Given the description of an element on the screen output the (x, y) to click on. 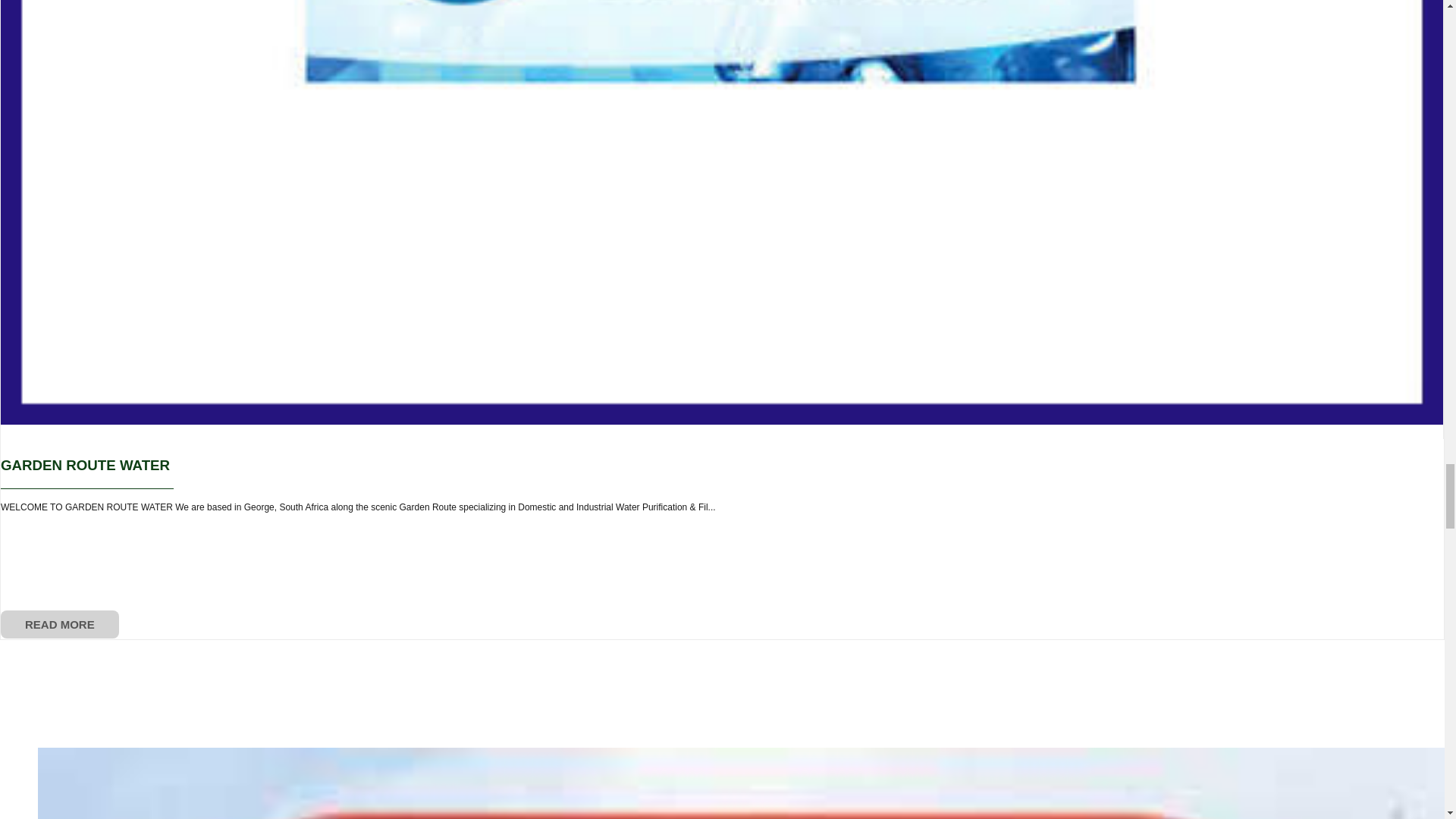
READ MORE (60, 624)
GARDEN ROUTE WATER (85, 465)
